Given the description of an element on the screen output the (x, y) to click on. 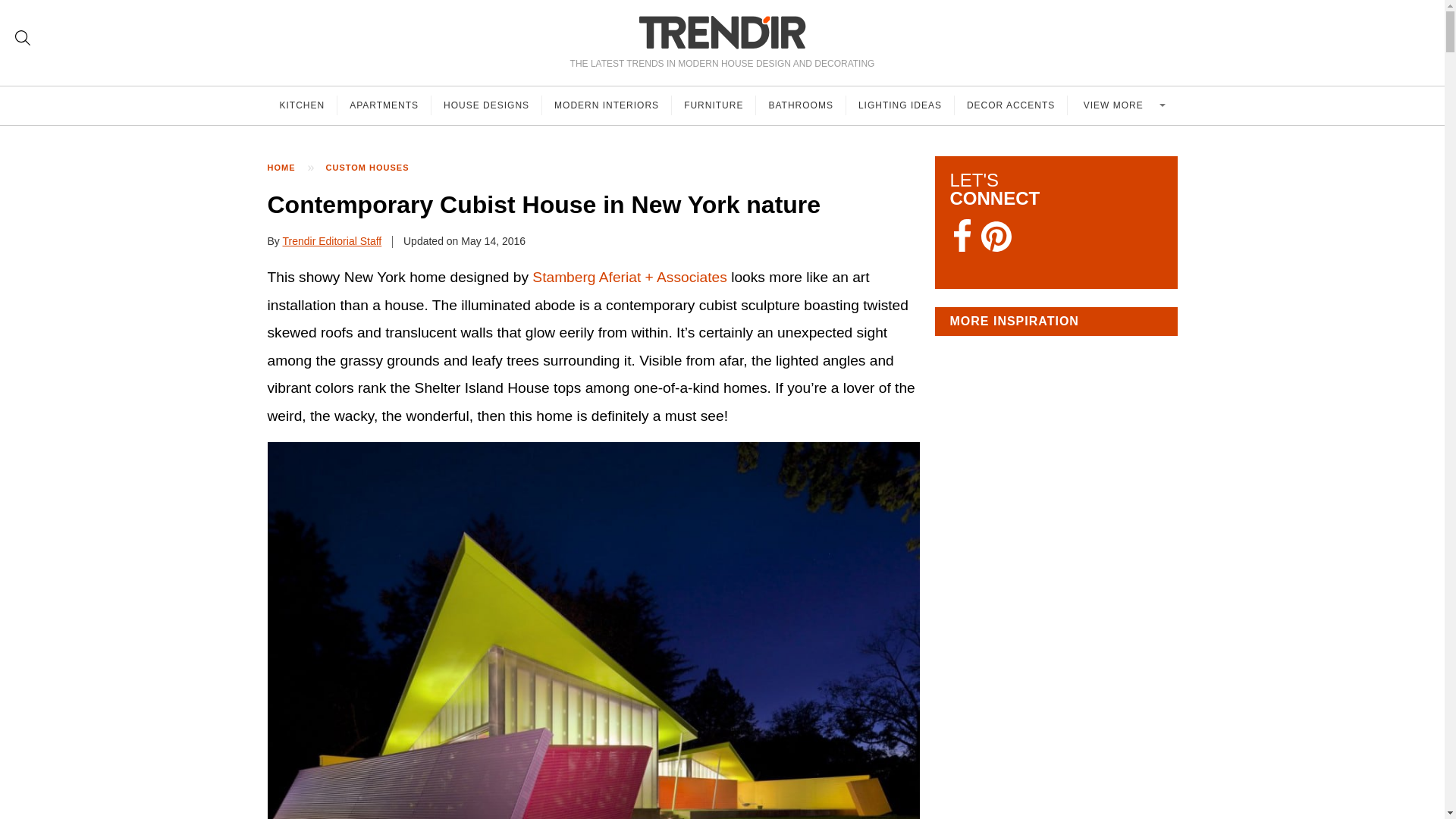
Trendir Home (722, 32)
HOUSE DESIGNS (485, 105)
Trendir Editorial Staff (331, 241)
Trendir Pinterest (995, 237)
APARTMENTS (383, 105)
MODERN INTERIORS (606, 105)
DECOR ACCENTS (1011, 105)
LIGHTING IDEAS (900, 105)
FURNITURE (713, 105)
Home (288, 167)
